Given the description of an element on the screen output the (x, y) to click on. 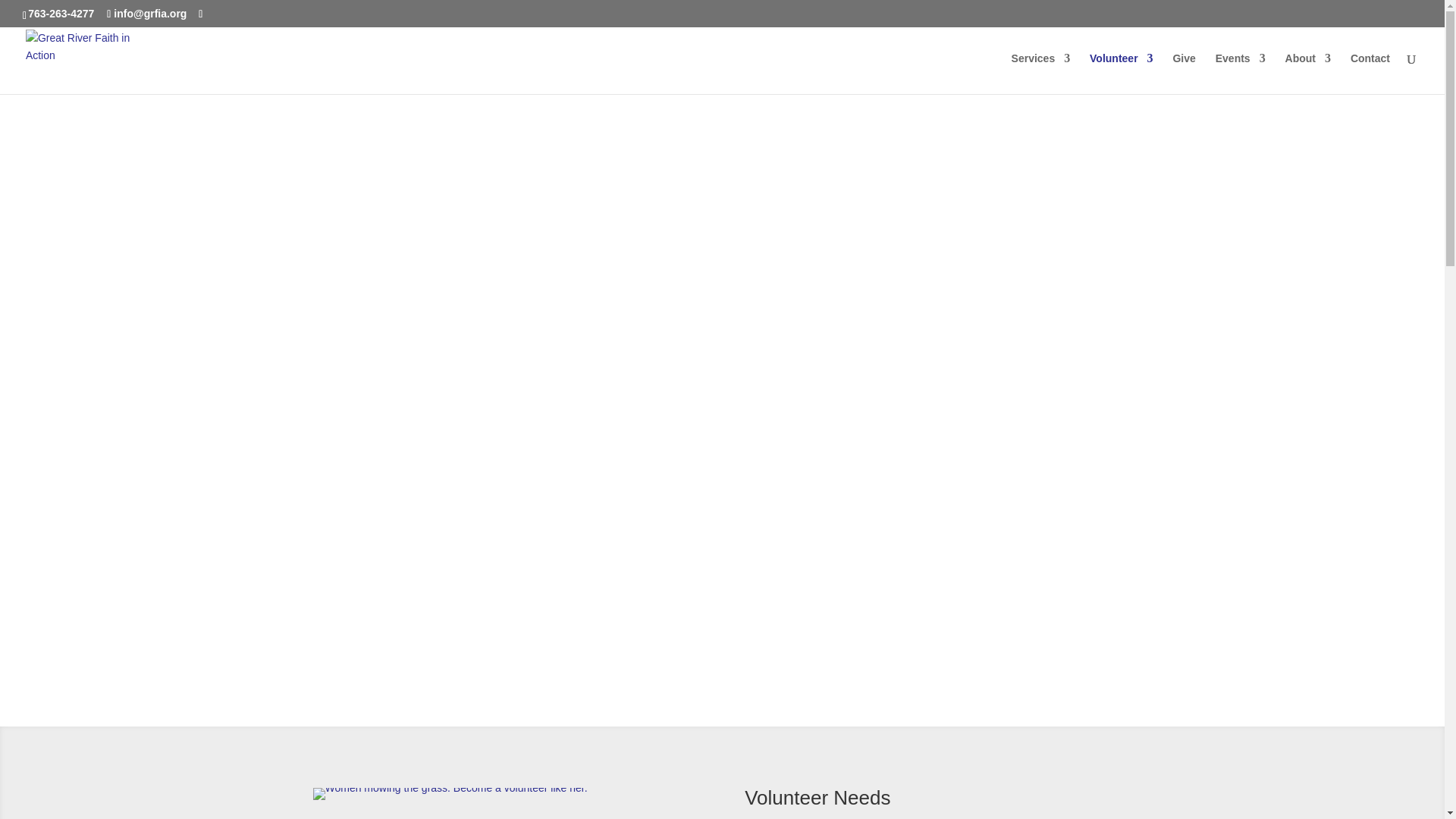
Services (1040, 73)
Volunteer (1121, 73)
About (1307, 73)
Events (1240, 73)
Woman mowing (449, 787)
Contact (1370, 73)
